Given the description of an element on the screen output the (x, y) to click on. 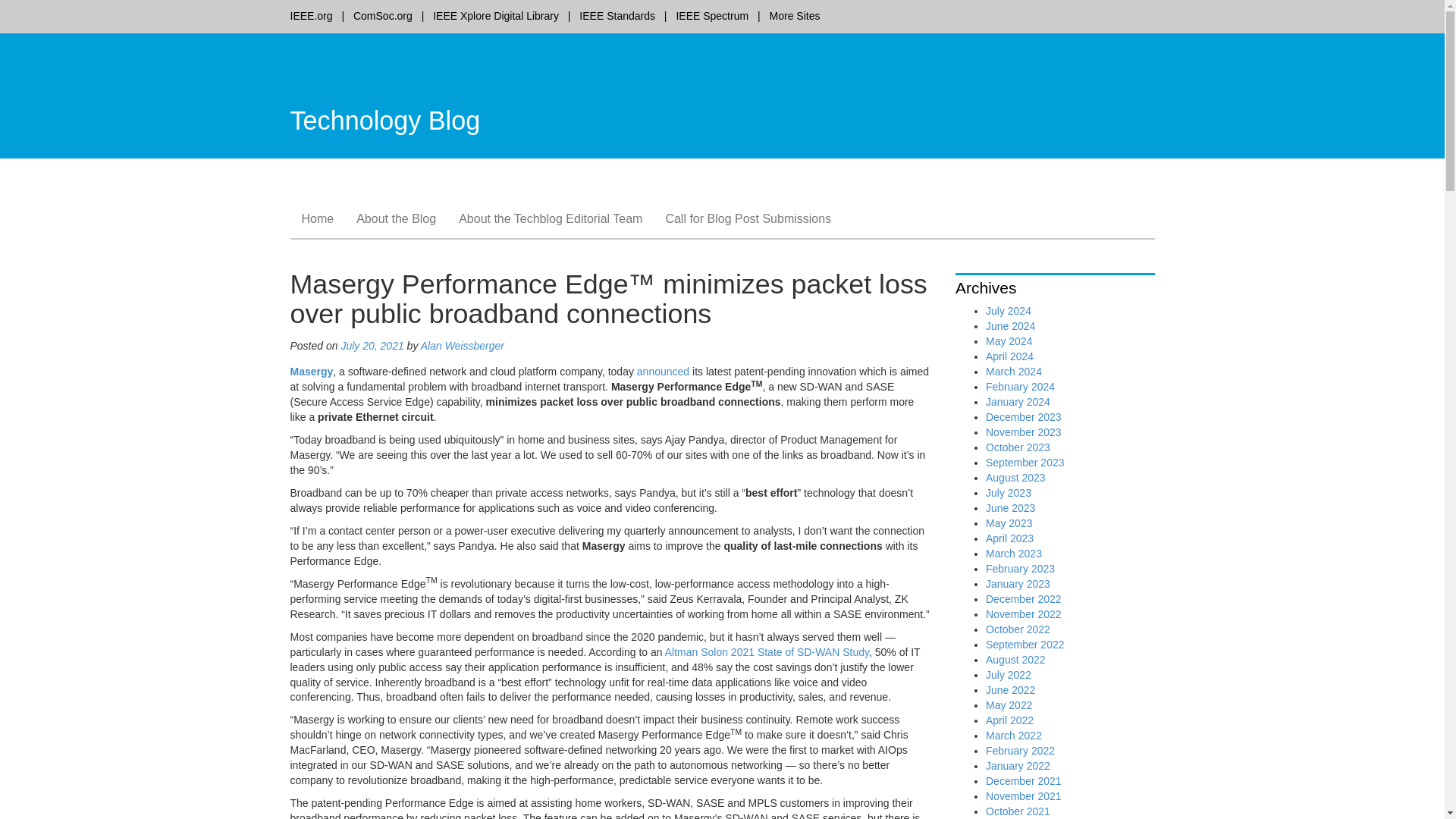
January 2024 (1017, 401)
November 2023 (1023, 431)
About the Blog (395, 218)
 Altman Solon 2021 State of SD-WAN Study (765, 652)
IEEE Xplore Digital Library (495, 15)
Call for Blog Post Submissions (748, 218)
December 2023 (1023, 417)
Home (317, 218)
announced (662, 371)
IEEE (1112, 63)
April 2024 (1009, 356)
Masergy (311, 371)
July 20, 2021 (371, 345)
June 2024 (1010, 326)
May 2024 (1008, 340)
